Given the description of an element on the screen output the (x, y) to click on. 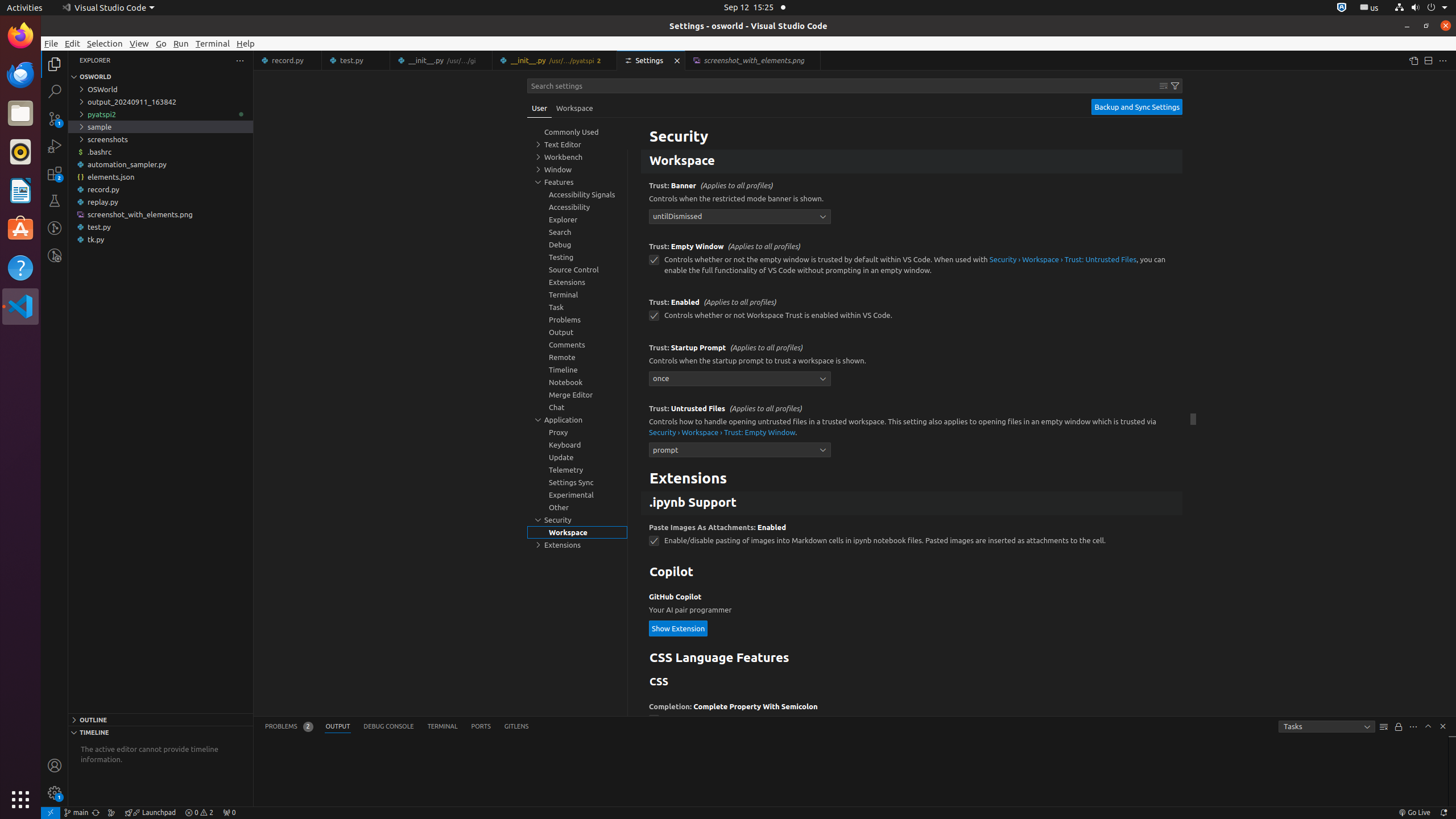
broadcast Go Live, Click to run live server Element type: push-button (1414, 812)
record.py Element type: tree-item (160, 189)
More Actions... Element type: push-button (1442, 60)
Filter Settings Element type: push-button (1174, 85)
Comments, group Element type: tree-item (577, 344)
